Given the description of an element on the screen output the (x, y) to click on. 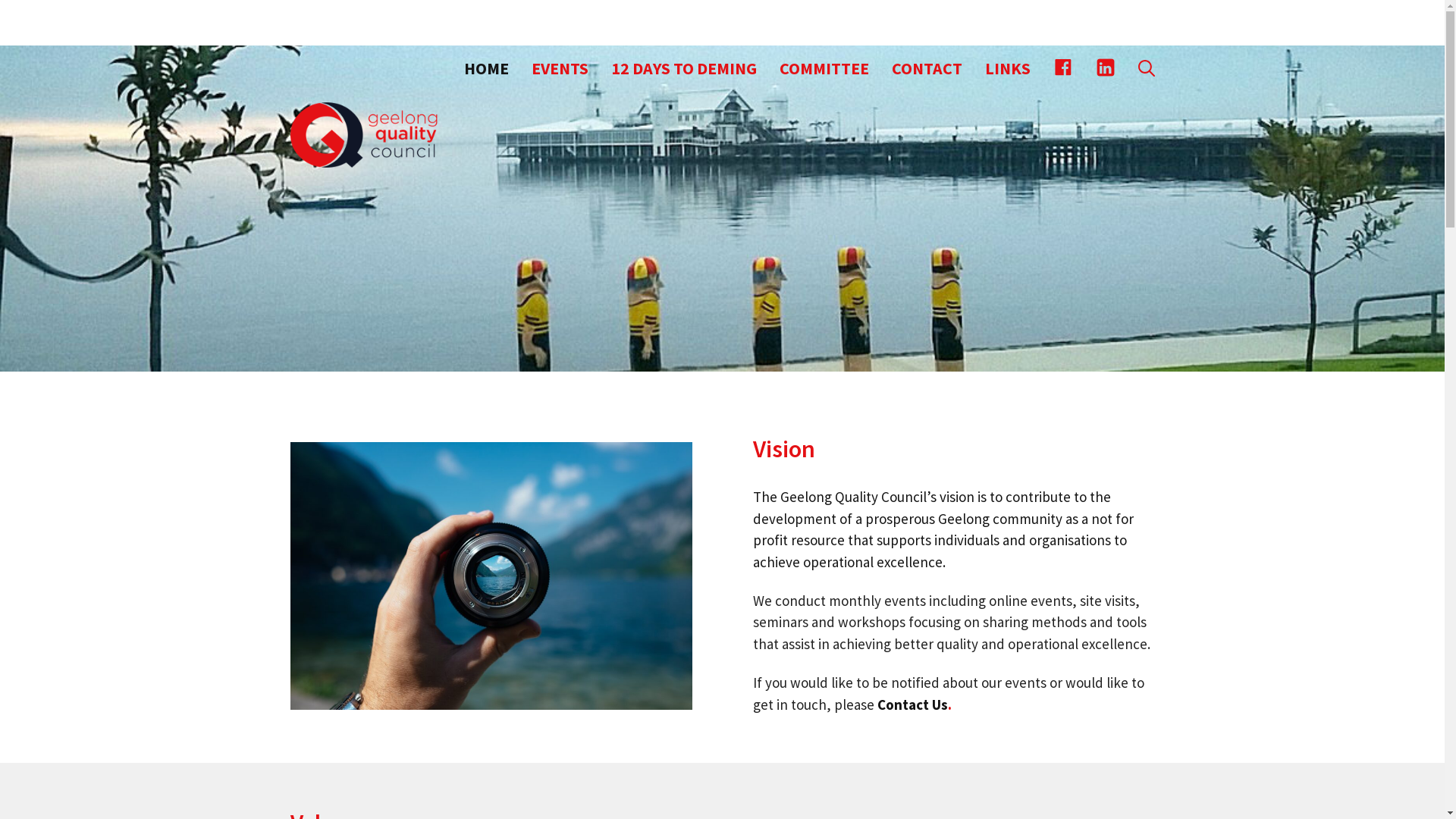
HOME Element type: text (485, 68)
Contact Us Element type: text (911, 704)
CONTACT Element type: text (925, 68)
EVENTS Element type: text (559, 68)
MENU ITEM Element type: text (1105, 68)
12 DAYS TO DEMING Element type: text (683, 68)
COMMITTEE Element type: text (823, 68)
LINKS Element type: text (1007, 68)
MENU ITEM Element type: text (1062, 68)
